Given the description of an element on the screen output the (x, y) to click on. 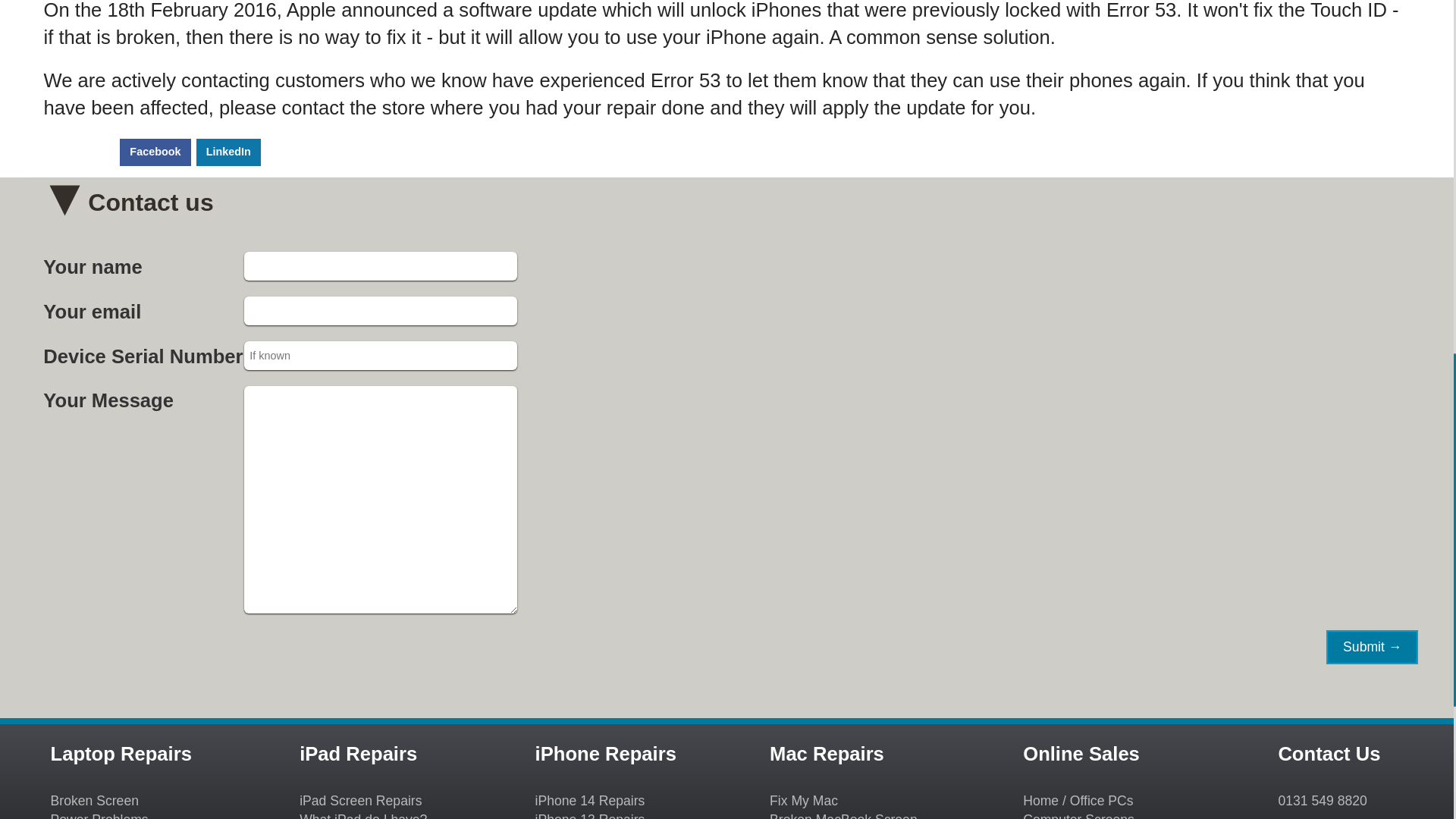
Share on Facebook (154, 152)
Share on X, formerly known as Twitter. (79, 152)
Share on LinkedIn (228, 152)
